Given the description of an element on the screen output the (x, y) to click on. 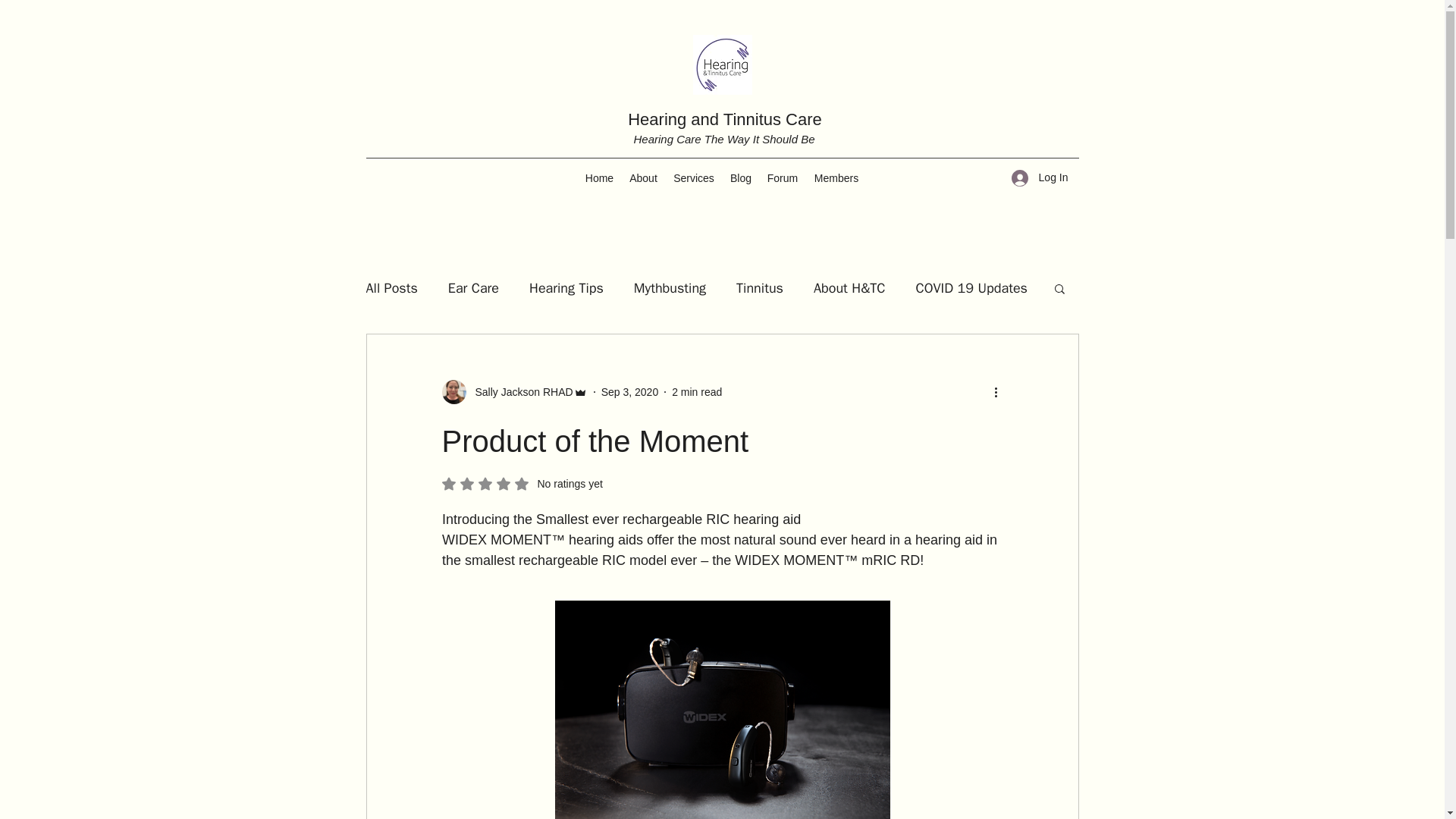
Members (835, 178)
About (643, 178)
Mythbusting (669, 288)
Services (693, 178)
COVID 19 Updates (971, 288)
Sep 3, 2020 (630, 390)
Log In (1039, 177)
Hearing Tips (566, 288)
Forum (783, 178)
Sally Jackson RHAD (513, 392)
Ear Care (473, 288)
Blog (740, 178)
All Posts (390, 288)
Hearing and Tinnitus Care (724, 118)
Sally Jackson RHAD (518, 391)
